Given the description of an element on the screen output the (x, y) to click on. 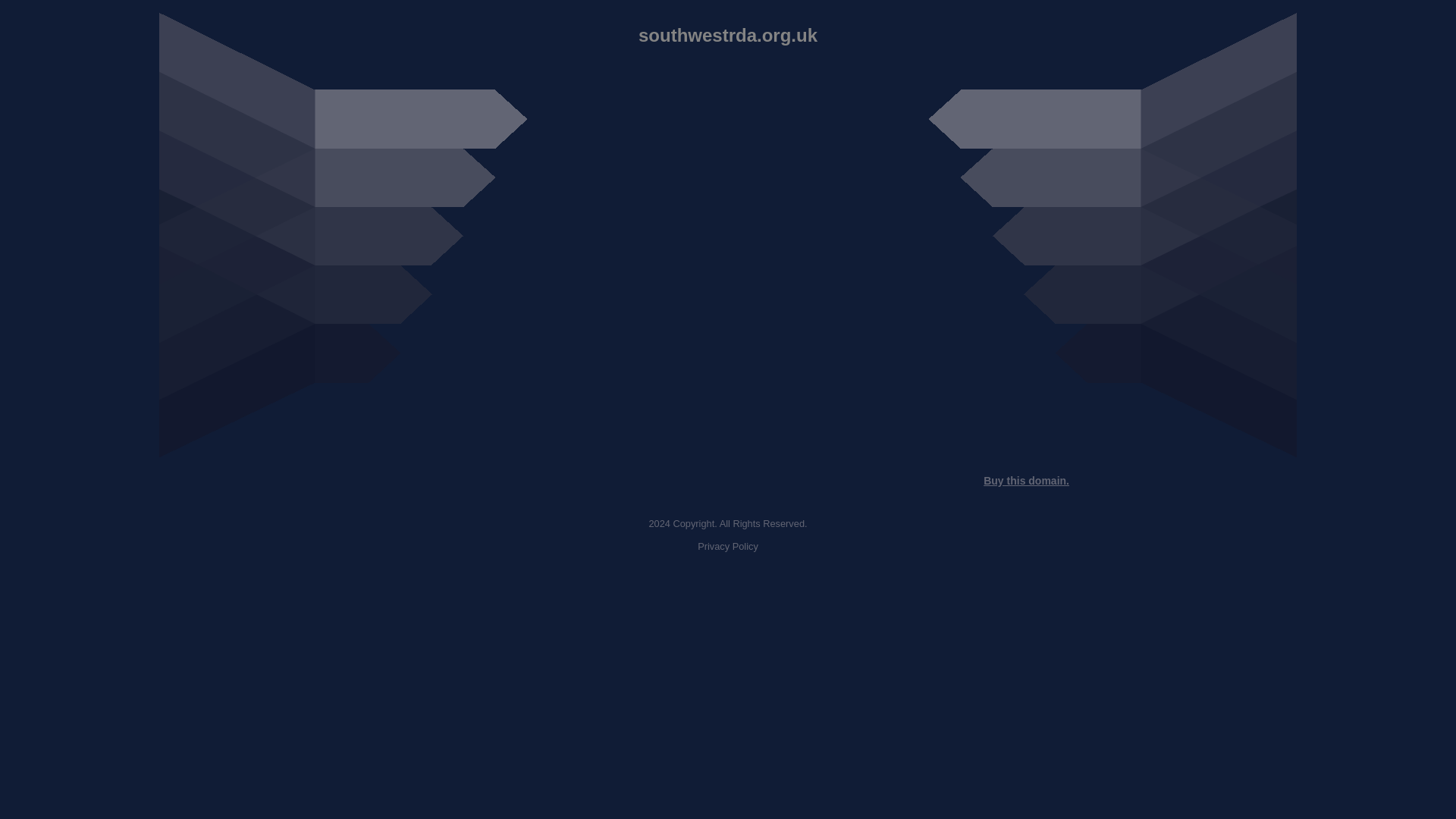
Buy this domain. (1026, 480)
Privacy Policy (727, 546)
